Given the description of an element on the screen output the (x, y) to click on. 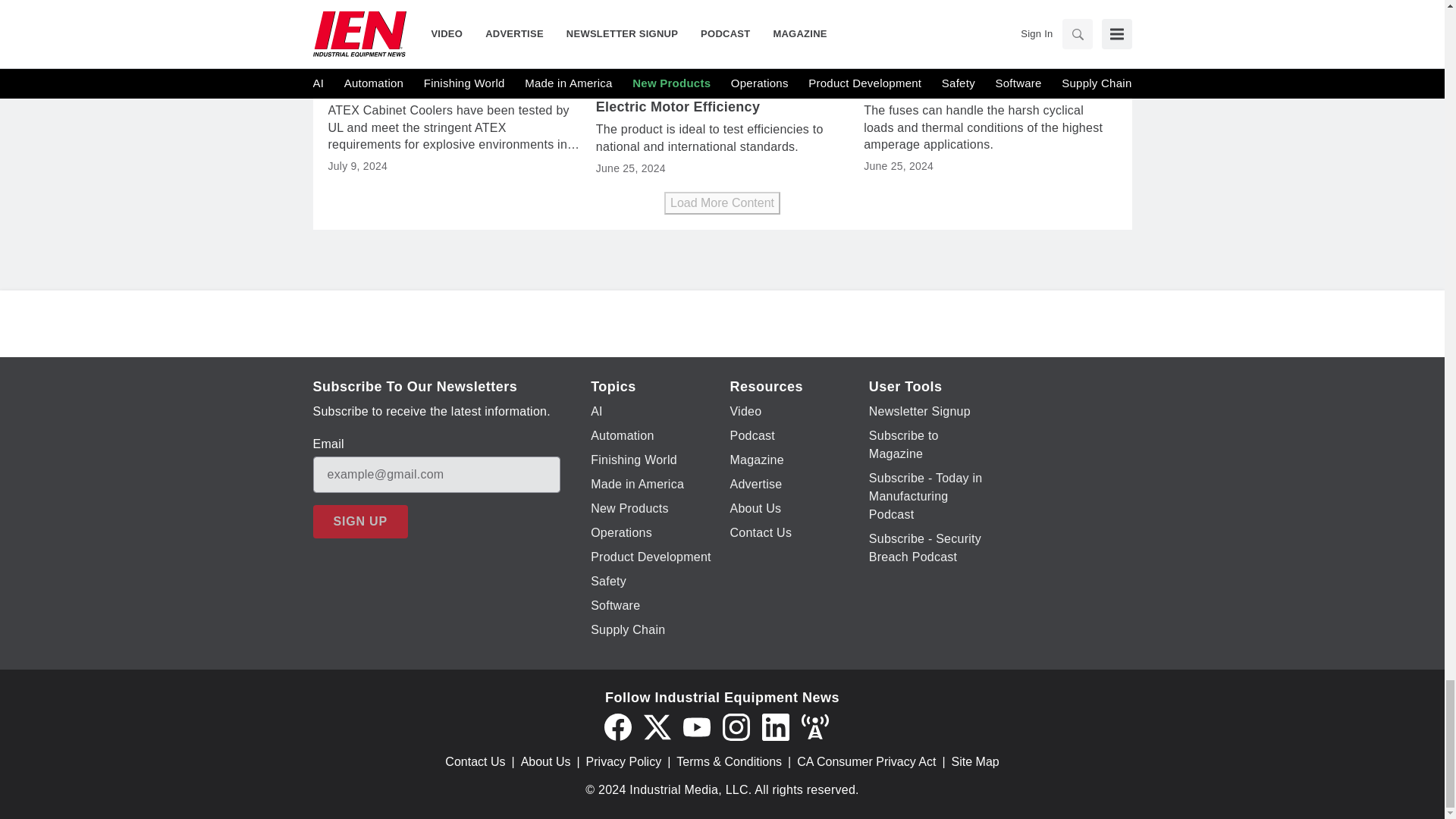
Facebook icon (617, 727)
Twitter X icon (656, 727)
LinkedIn icon (775, 727)
Instagram icon (735, 727)
YouTube icon (696, 727)
